Given the description of an element on the screen output the (x, y) to click on. 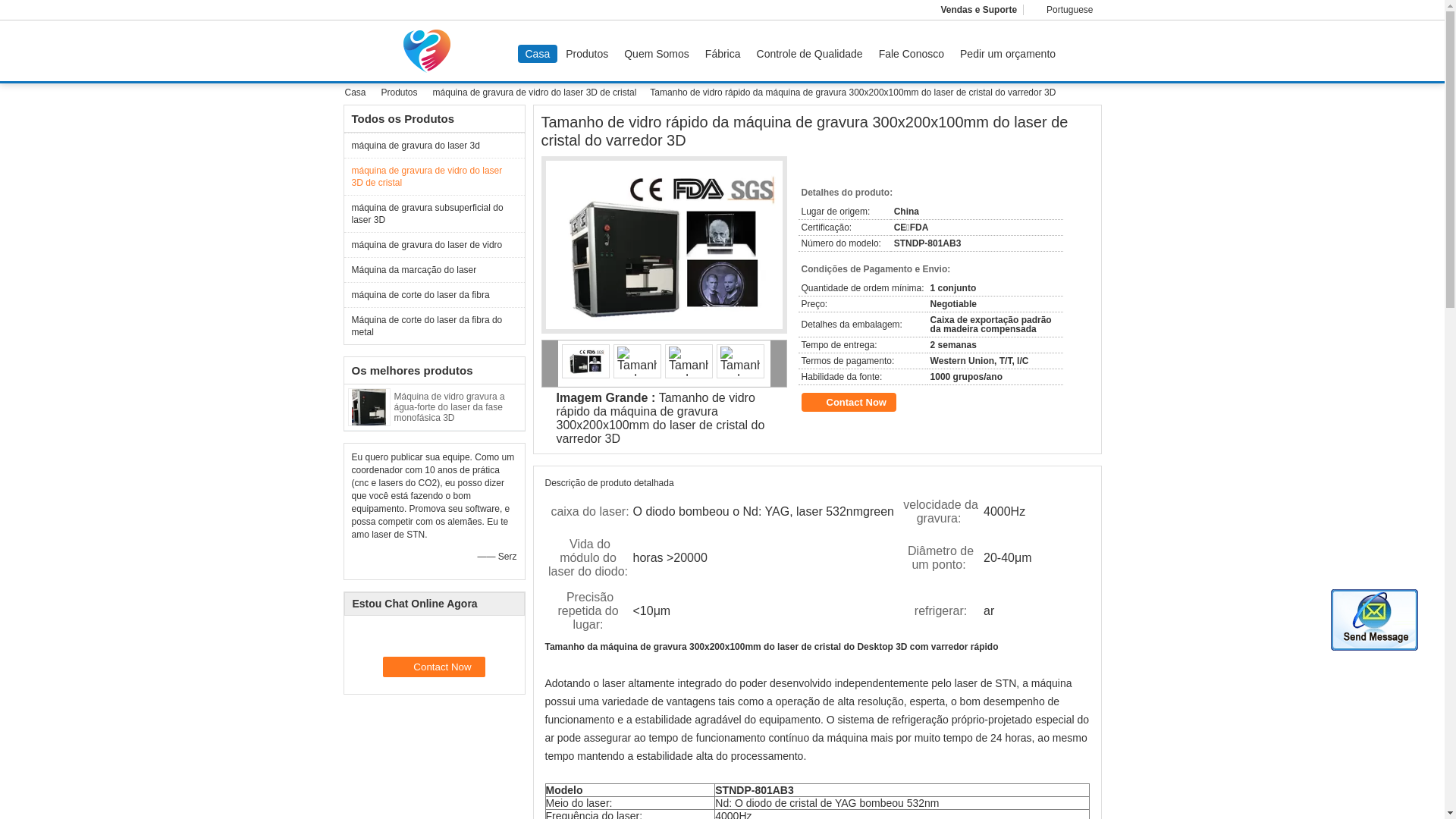
Contact Now Element type: text (433, 666)
Portuguese Element type: text (1061, 9)
Produtos Element type: text (586, 53)
Fale Conosco Element type: text (911, 53)
Casa Element type: text (537, 53)
Quem Somos Element type: text (656, 53)
Contact Now Element type: text (847, 401)
Casa Element type: text (359, 92)
Produtos Element type: text (400, 92)
Controle de Qualidade Element type: text (809, 53)
